Given the description of an element on the screen output the (x, y) to click on. 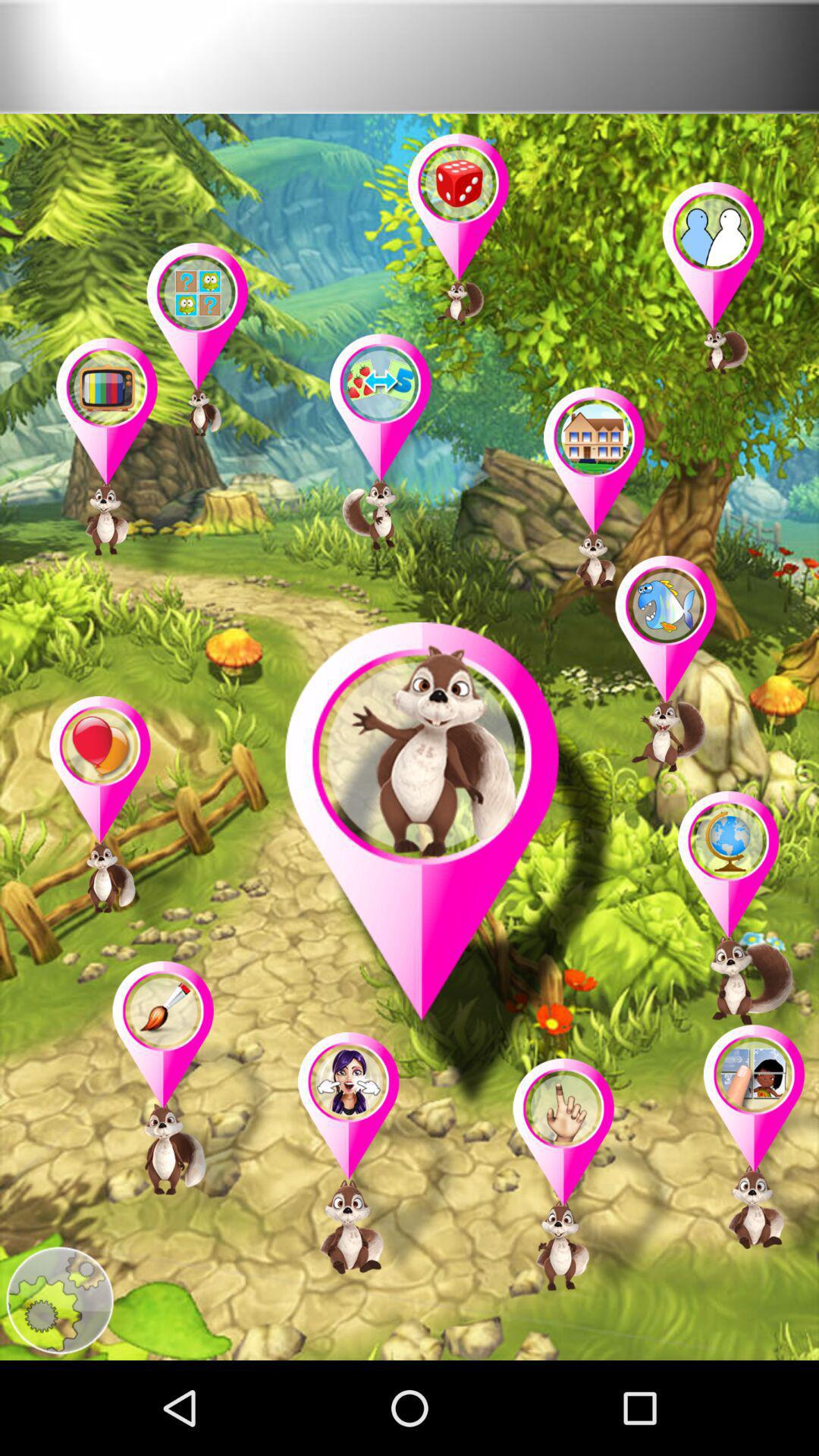
open the game (194, 1085)
